Given the description of an element on the screen output the (x, y) to click on. 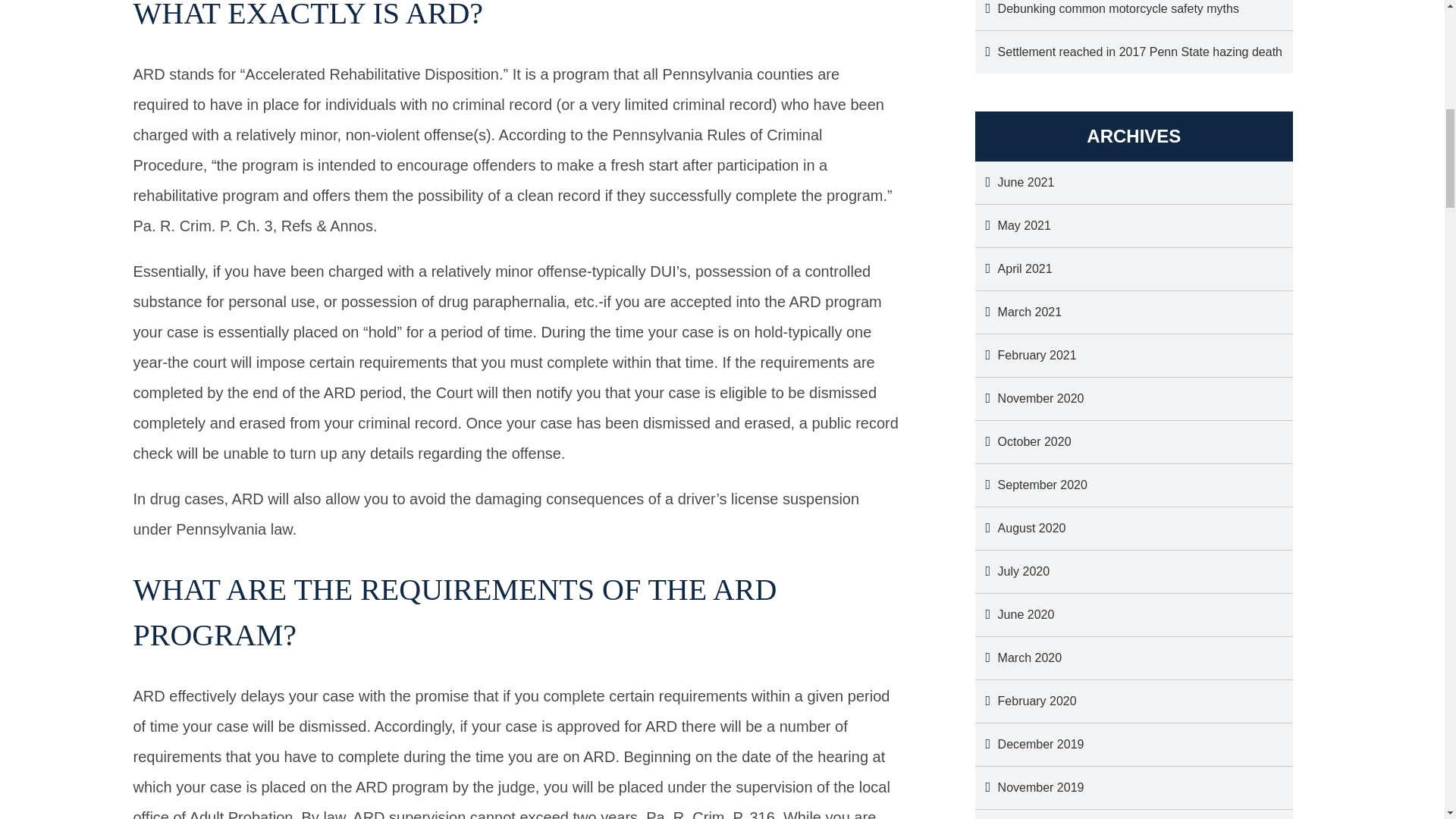
Debunking common motorcycle safety myths (1107, 15)
February 2021 (1026, 355)
June 2021 (1014, 182)
November 2020 (1029, 398)
Settlement reached in 2017 Penn State hazing death (1128, 52)
April 2021 (1013, 269)
May 2021 (1013, 225)
March 2021 (1018, 312)
